Given the description of an element on the screen output the (x, y) to click on. 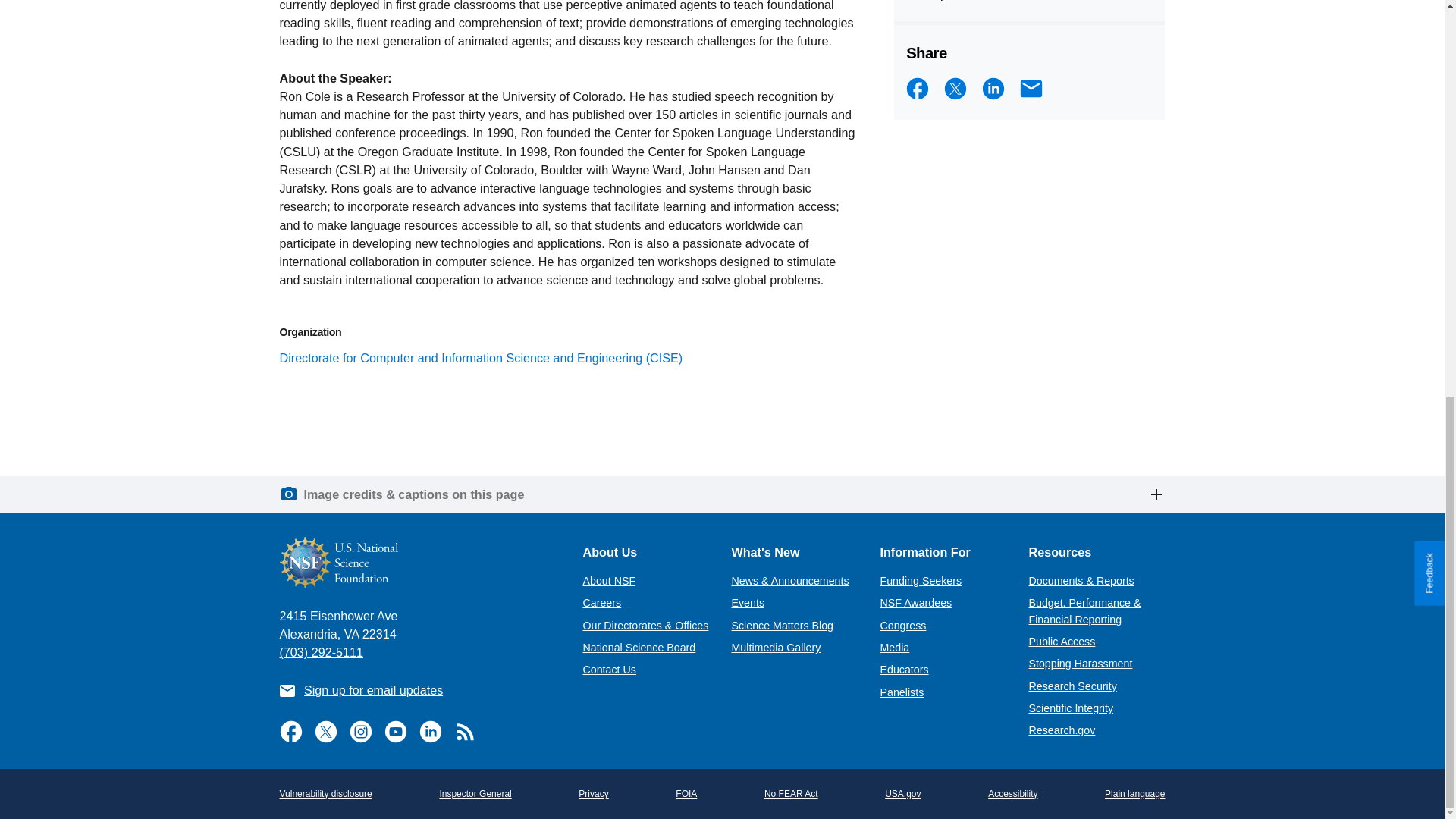
Contact Us (608, 669)
Email (1030, 88)
National Science Board (638, 647)
Careers (601, 603)
LinkedIn (992, 88)
Sign up for email updates (373, 689)
About NSF (608, 580)
Facebook (917, 88)
NSF - National Science Foundation - Home (418, 562)
